Given the description of an element on the screen output the (x, y) to click on. 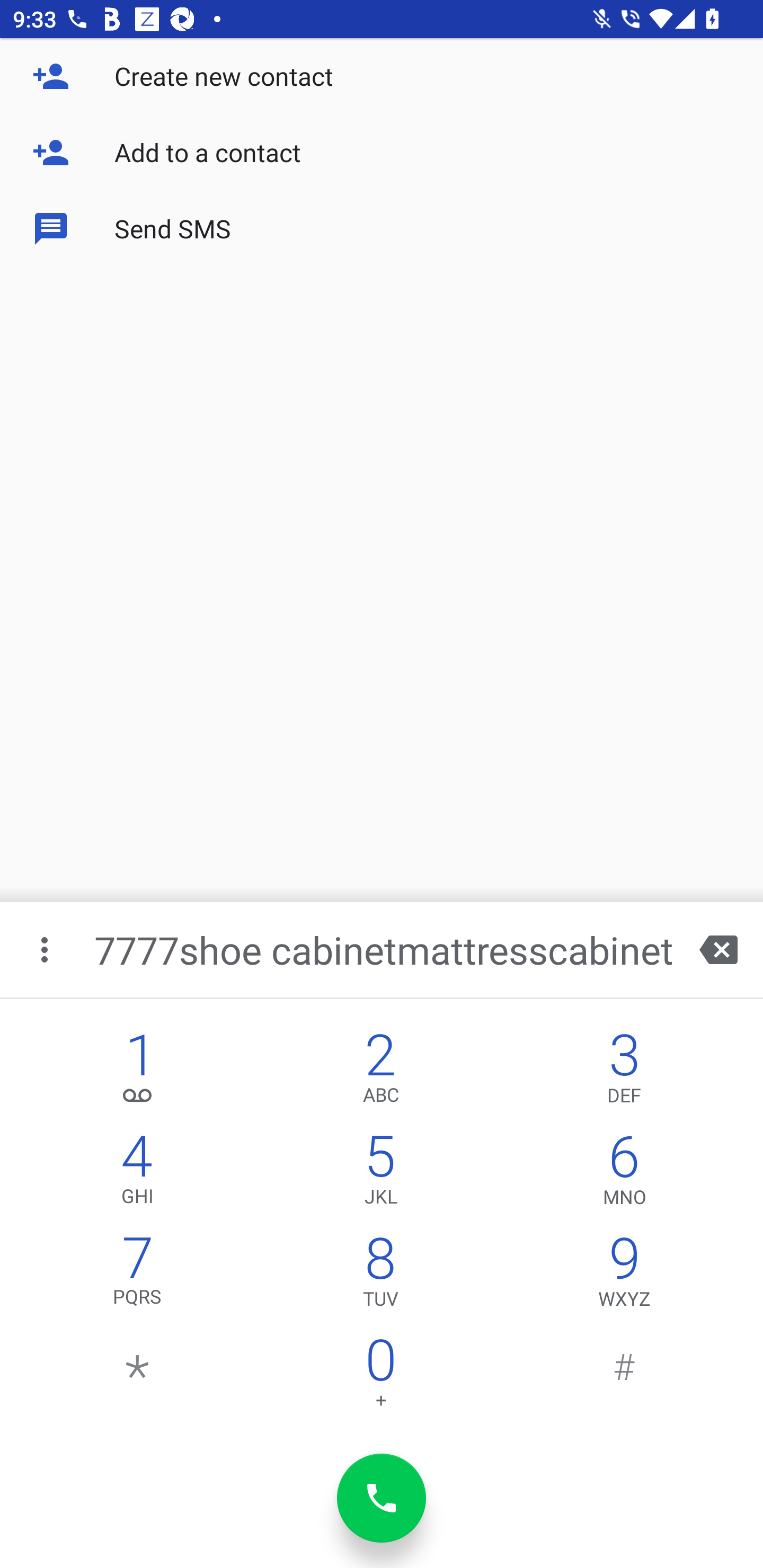
Create new contact (381, 75)
Add to a contact (381, 152)
Send SMS (381, 228)
+91 80 6980 7777shoe cabinetmattresscabinet (382, 949)
backspace (718, 949)
More options (45, 949)
1, 1 (137, 1071)
2,ABC 2 ABC (380, 1071)
3,DEF 3 DEF (624, 1071)
4,GHI 4 GHI (137, 1173)
5,JKL 5 JKL (380, 1173)
6,MNO 6 MNO (624, 1173)
7,PQRS 7 PQRS (137, 1275)
8,TUV 8 TUV (380, 1275)
9,WXYZ 9 WXYZ (624, 1275)
* (137, 1377)
0 0 + (380, 1377)
# (624, 1377)
dial (381, 1497)
